Given the description of an element on the screen output the (x, y) to click on. 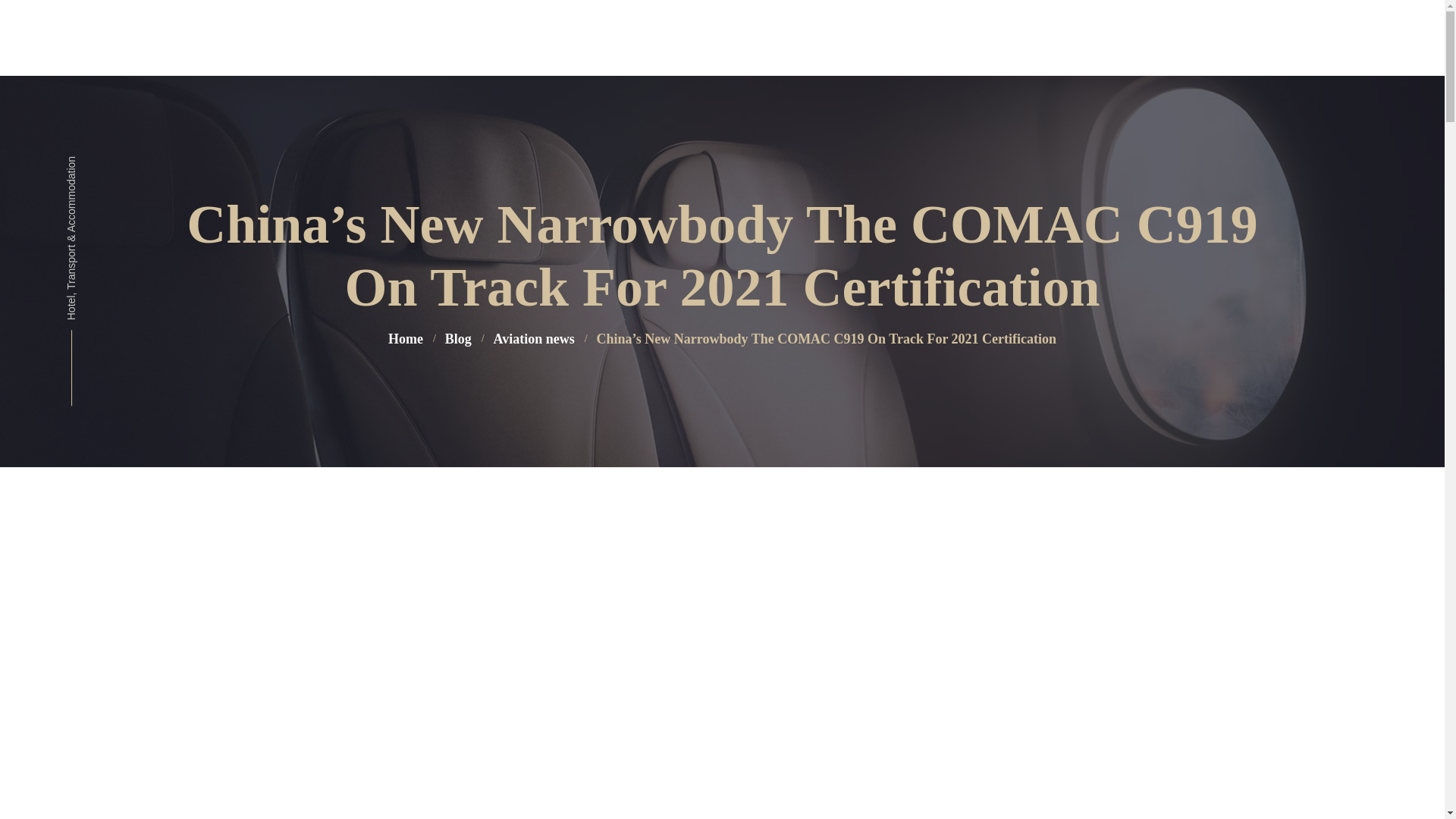
Go to Home. (405, 338)
Aviation news (533, 338)
Blog (458, 338)
Go to Blog. (458, 338)
Home (405, 338)
Go to the Aviation news category archives. (533, 338)
